Given the description of an element on the screen output the (x, y) to click on. 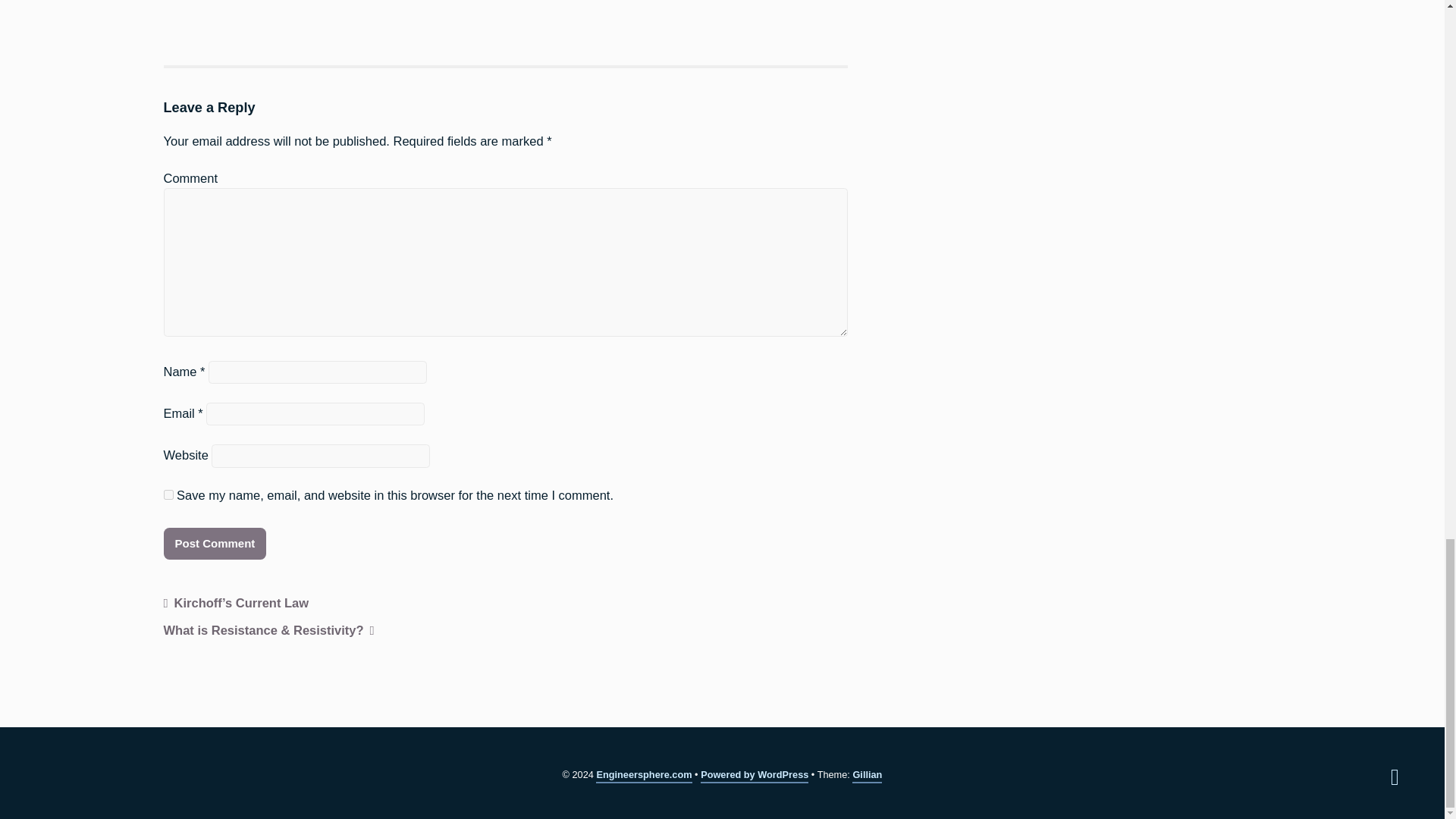
yes (168, 494)
Post Comment (214, 543)
Powered by WordPress (754, 775)
Engineersphere.com (643, 775)
Post Comment (214, 543)
